Given the description of an element on the screen output the (x, y) to click on. 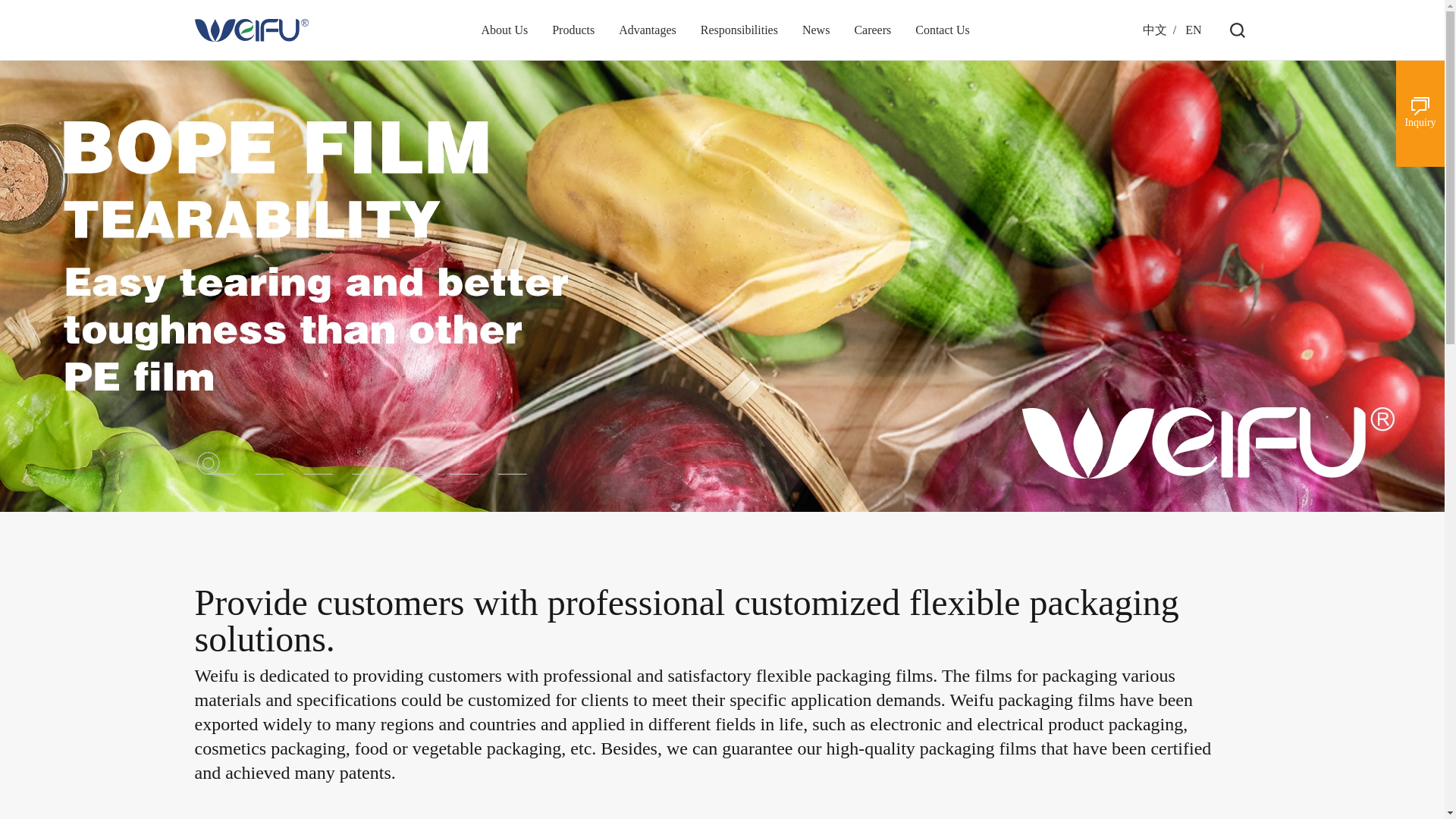
Contact Us (941, 30)
Products (573, 30)
Responsibilities (739, 30)
Huaducheng (250, 29)
Careers (871, 30)
Advantages (647, 30)
About Us (504, 30)
